Given the description of an element on the screen output the (x, y) to click on. 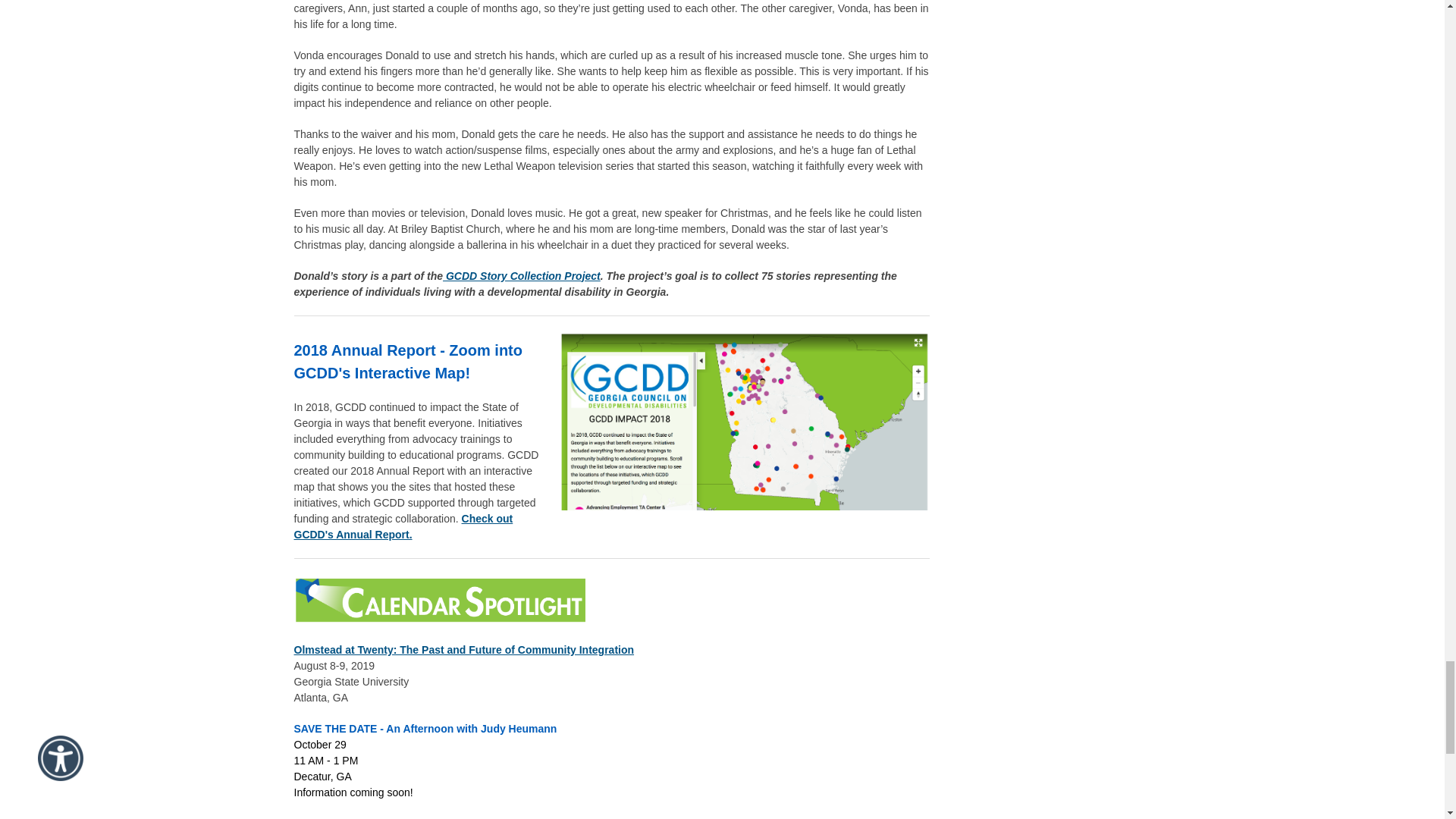
Calendar Spotlight (439, 598)
Calendar Spotlight (439, 600)
